Given the description of an element on the screen output the (x, y) to click on. 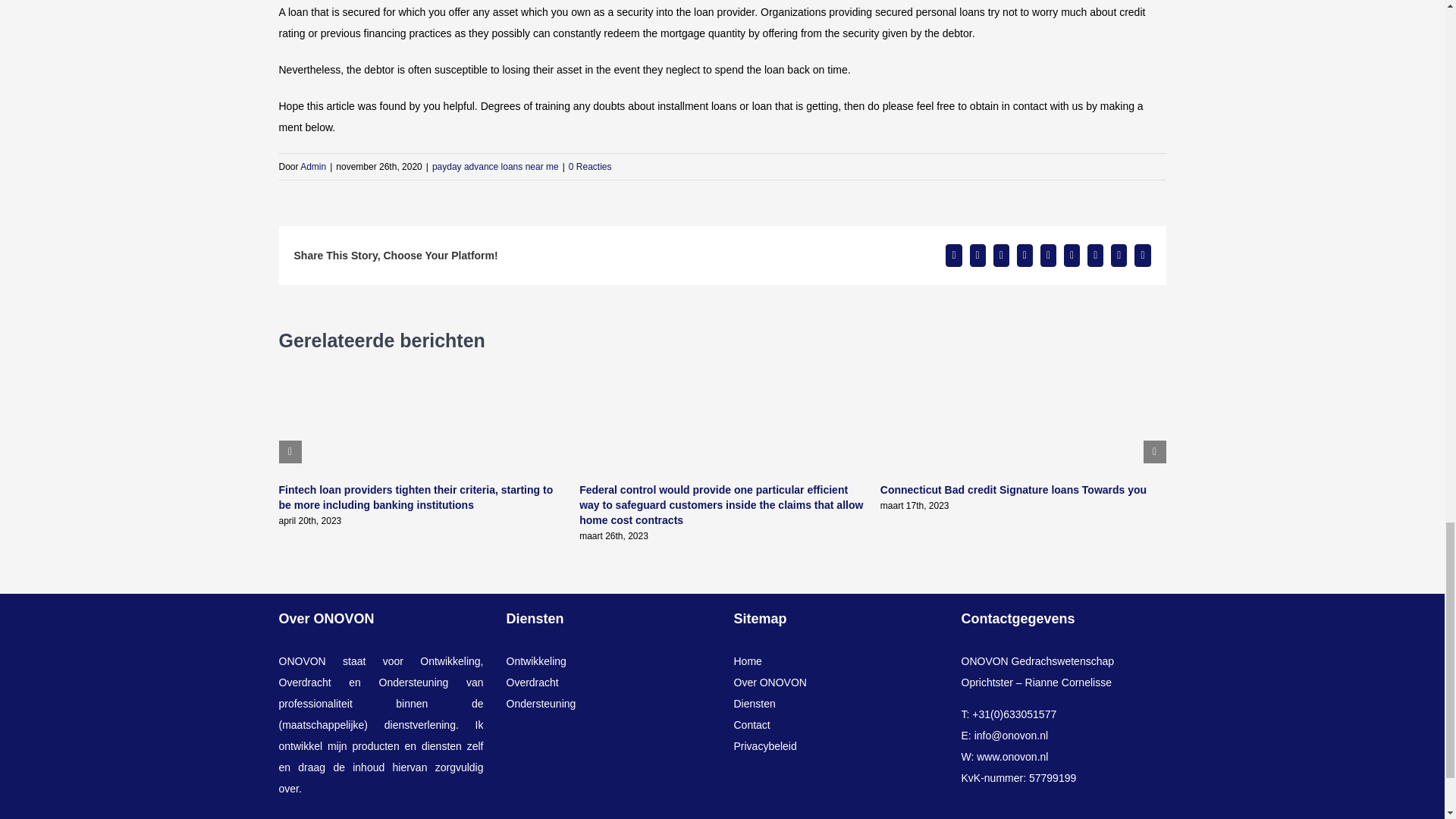
Connecticut Bad credit Signature loans Towards you (1013, 490)
payday advance loans near me (495, 166)
Berichten van Admin (312, 166)
Connecticut Bad credit Signature loans Towards you (1013, 490)
Admin (312, 166)
0 Reacties (590, 166)
